Given the description of an element on the screen output the (x, y) to click on. 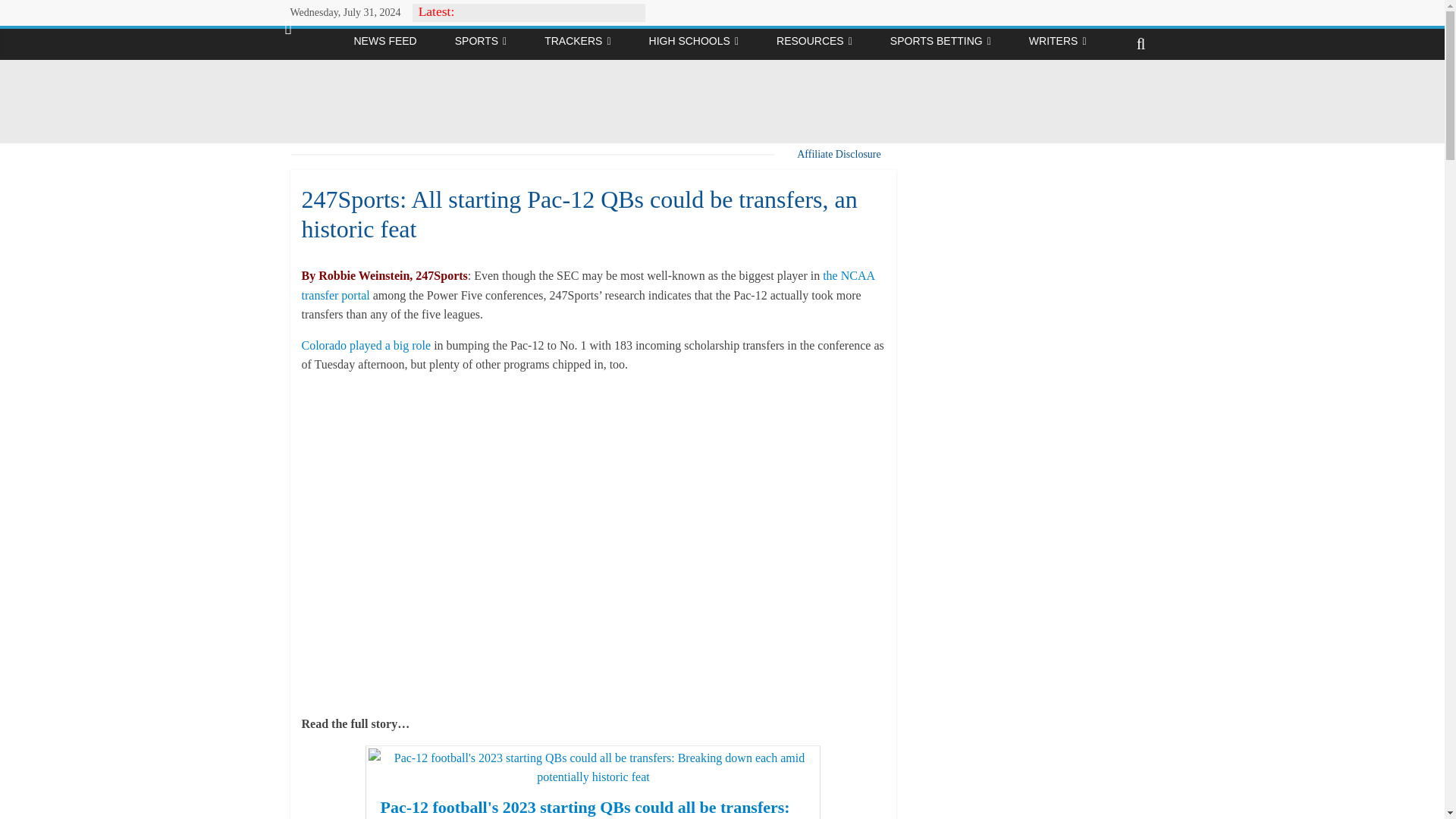
SPORTS (480, 41)
NEWS FEED (384, 40)
